Given the description of an element on the screen output the (x, y) to click on. 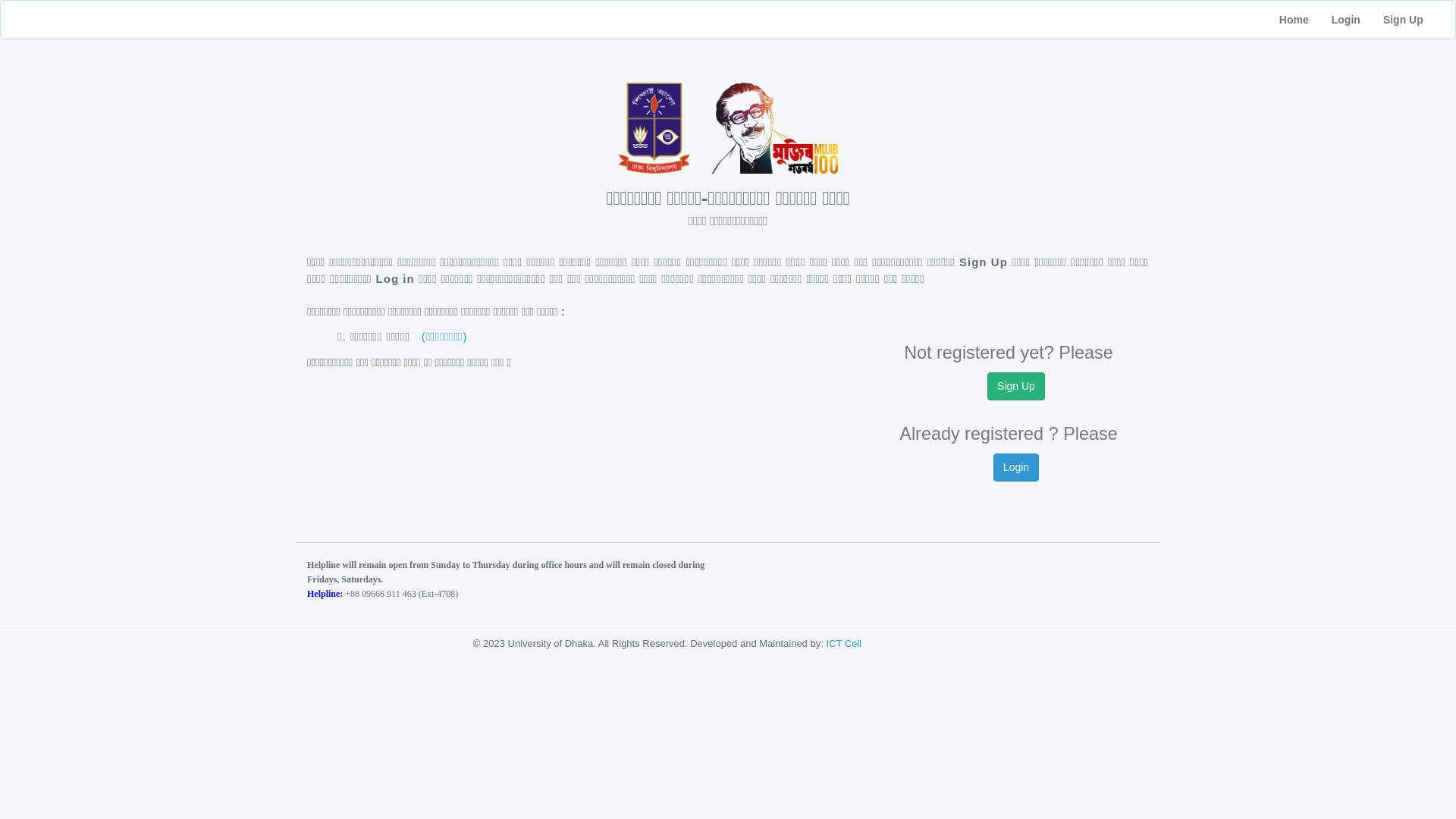
Home Element type: text (1293, 19)
Sign Up        Element type: text (1413, 19)
ICT Cell Element type: text (843, 643)
Login Element type: text (1015, 466)
Sign Up Element type: text (1015, 385)
Login Element type: text (1345, 19)
